Given the description of an element on the screen output the (x, y) to click on. 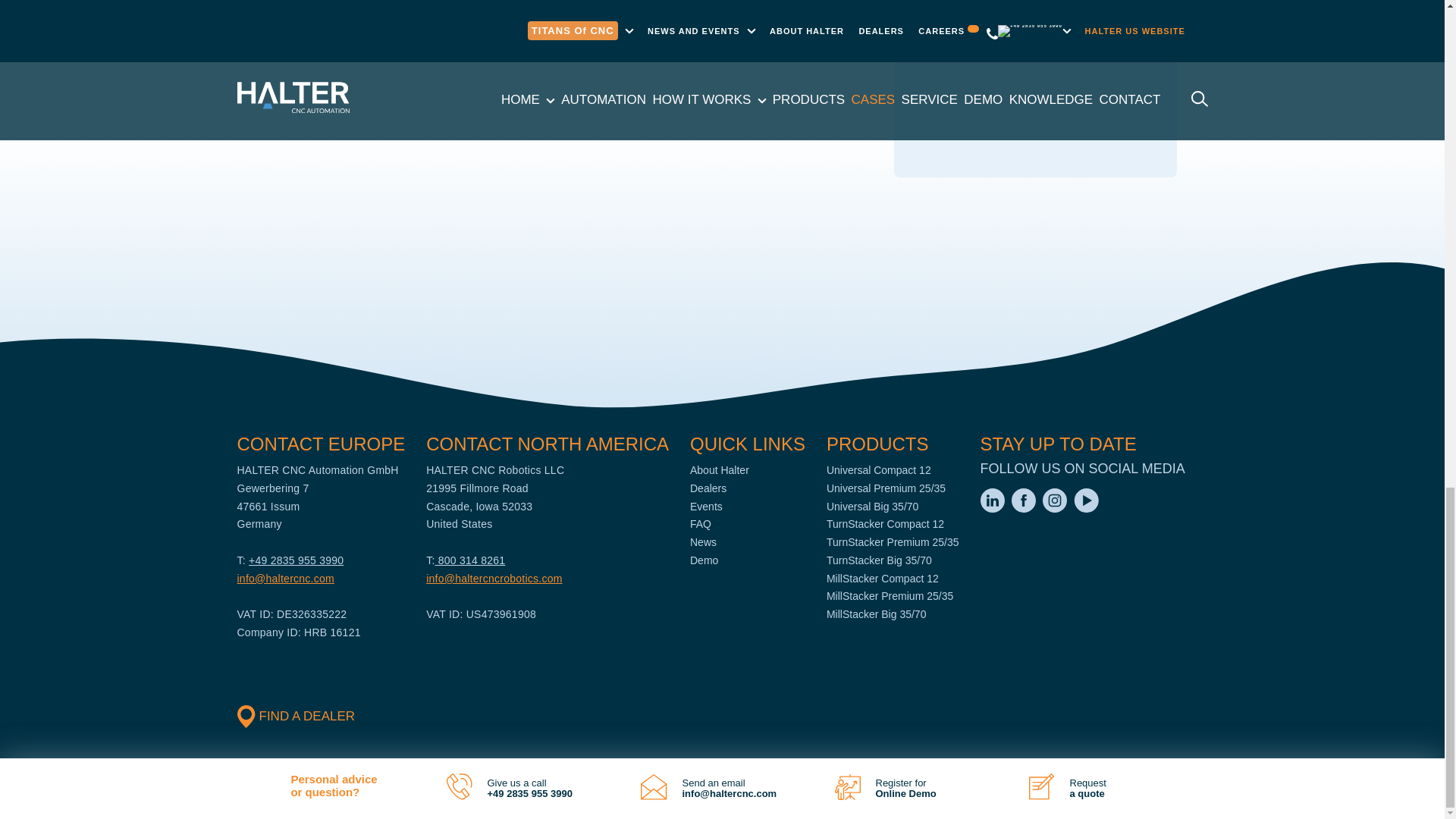
Halter CNC LinkedIn (993, 508)
Halter CNC Youtube Channel (1086, 508)
Halter CNC Instagram (1056, 508)
Halter CNC Facebook (1025, 508)
